Given the description of an element on the screen output the (x, y) to click on. 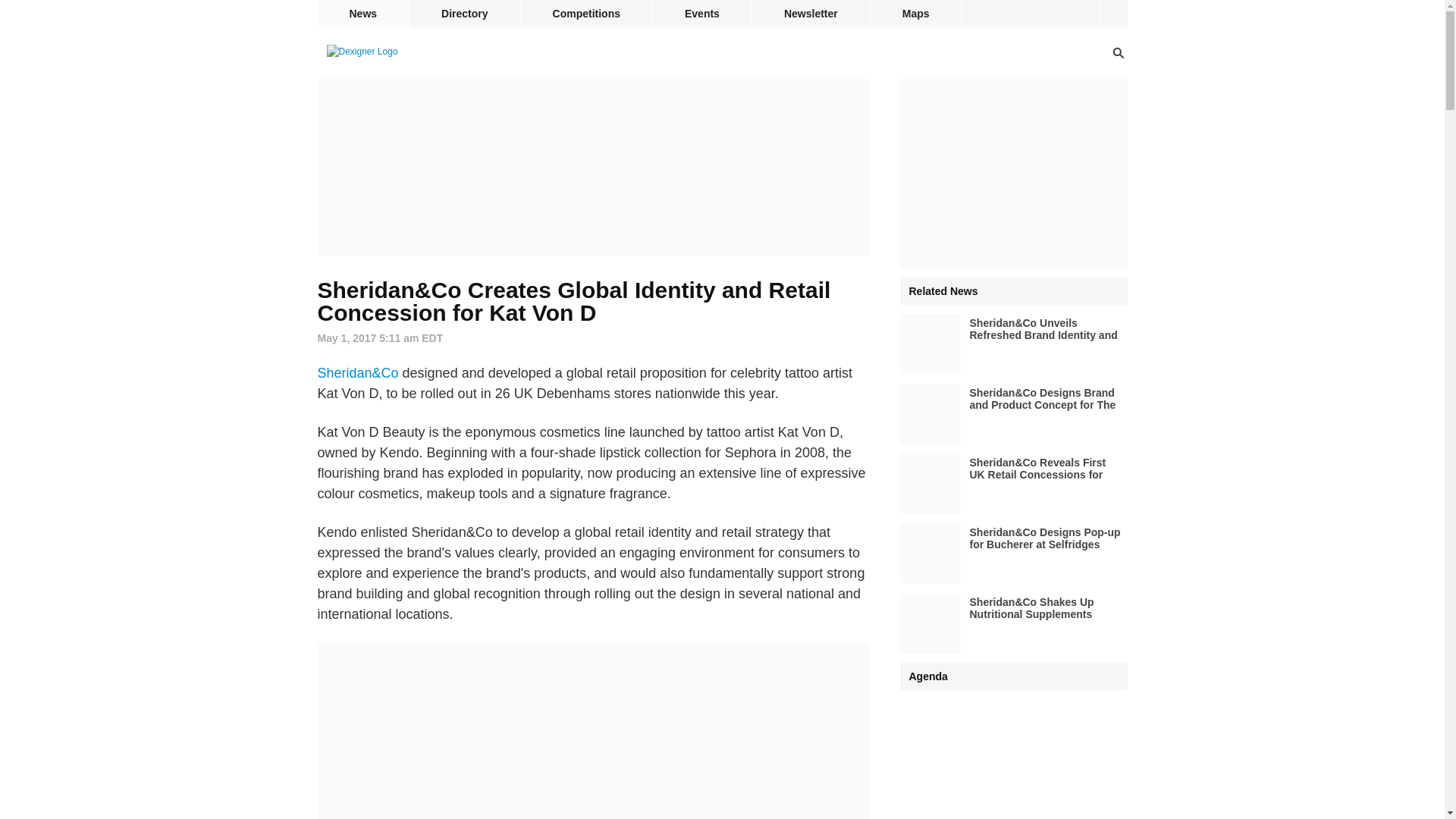
Newsletter (810, 13)
Events (701, 13)
Dexigner (361, 51)
Directory (464, 13)
Competitions (586, 13)
Maps (915, 13)
News (363, 13)
follow dexigner (1112, 13)
